Given the description of an element on the screen output the (x, y) to click on. 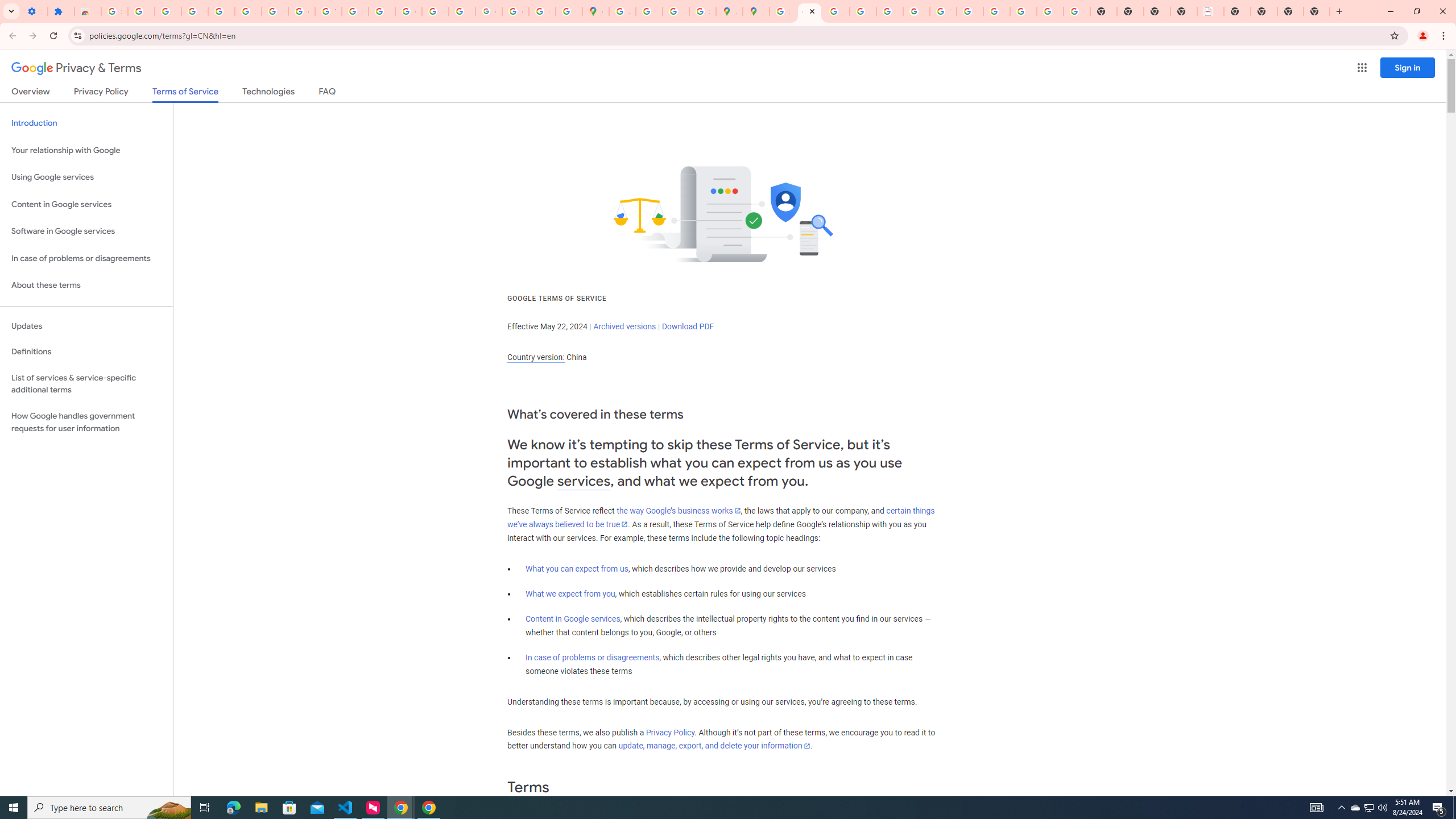
Using Google services (86, 176)
What you can expect from us (576, 568)
Google Maps (595, 11)
In case of problems or disagreements (592, 657)
Delete photos & videos - Computer - Google Photos Help (167, 11)
About these terms (86, 284)
New Tab (1316, 11)
